Given the description of an element on the screen output the (x, y) to click on. 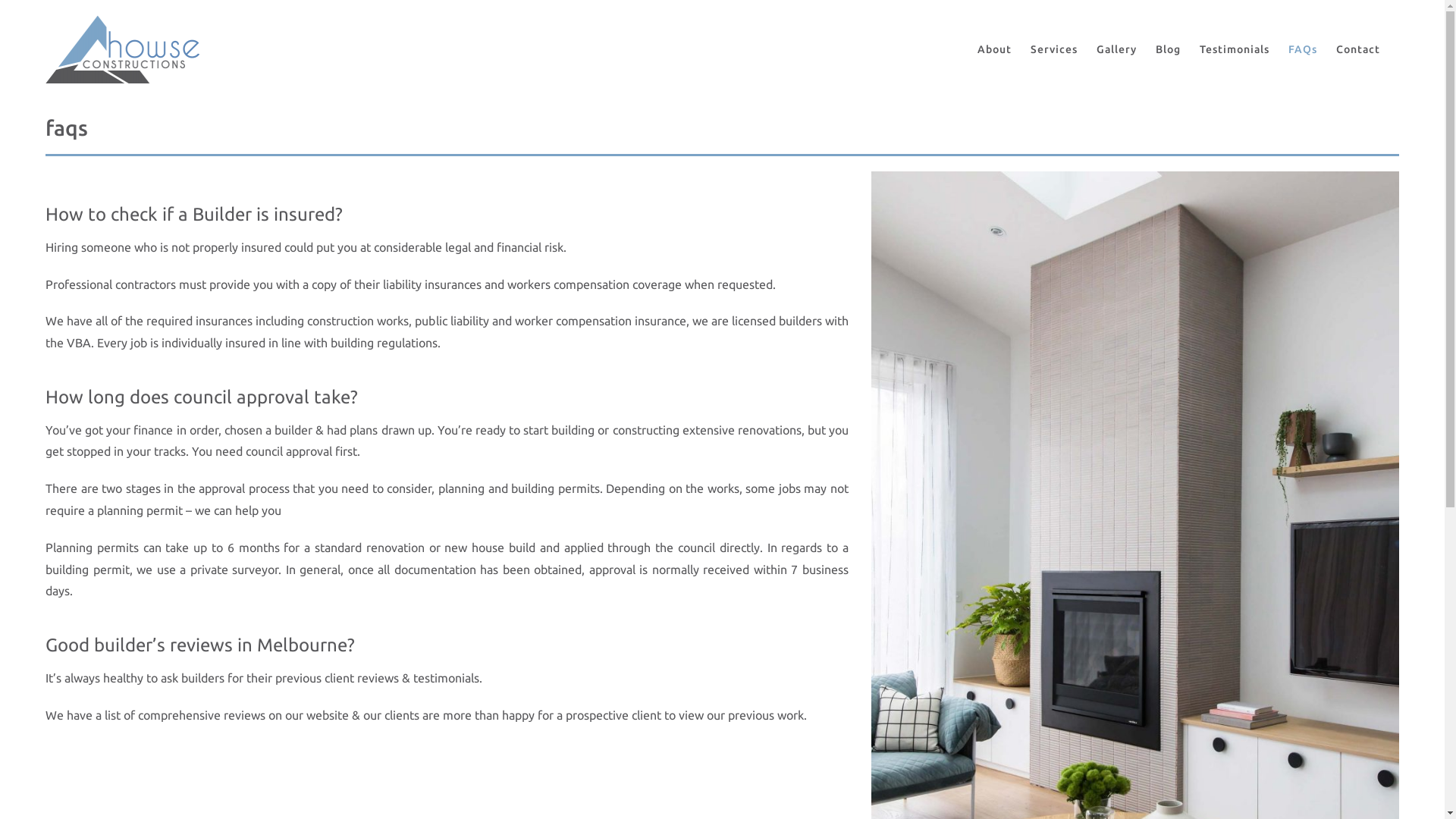
Services Element type: text (1053, 49)
FAQs Element type: text (1302, 49)
Contact Element type: text (1358, 49)
About Element type: text (994, 49)
Testimonials Element type: text (1234, 49)
Blog Element type: text (1167, 49)
Gallery Element type: text (1116, 49)
